Given the description of an element on the screen output the (x, y) to click on. 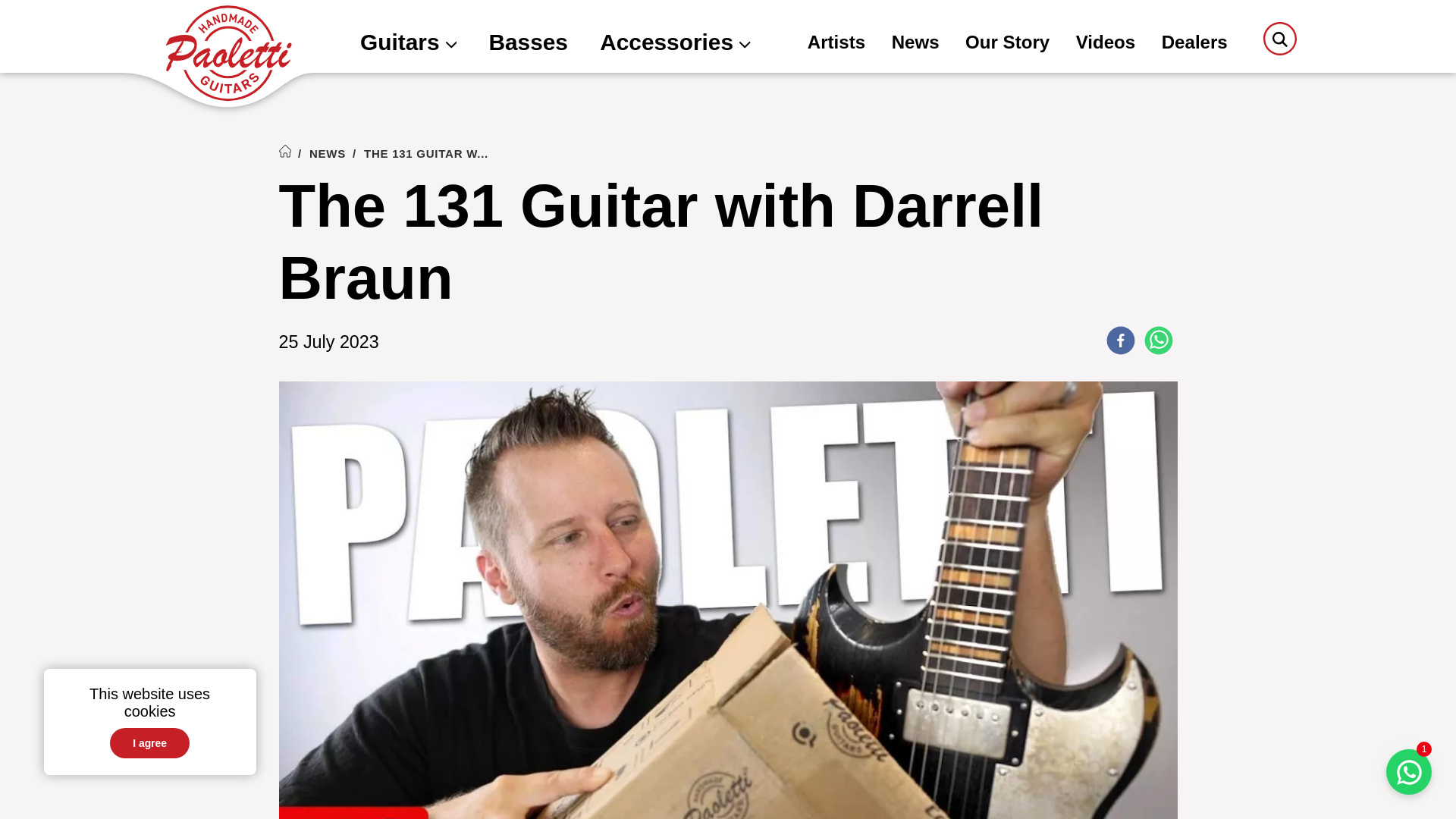
Accessories (675, 43)
Dealers (1194, 43)
Videos (1105, 43)
Artists (836, 43)
News (915, 43)
Our Story (1007, 43)
Basses (527, 43)
NEWS (327, 153)
Guitars (408, 43)
